Given the description of an element on the screen output the (x, y) to click on. 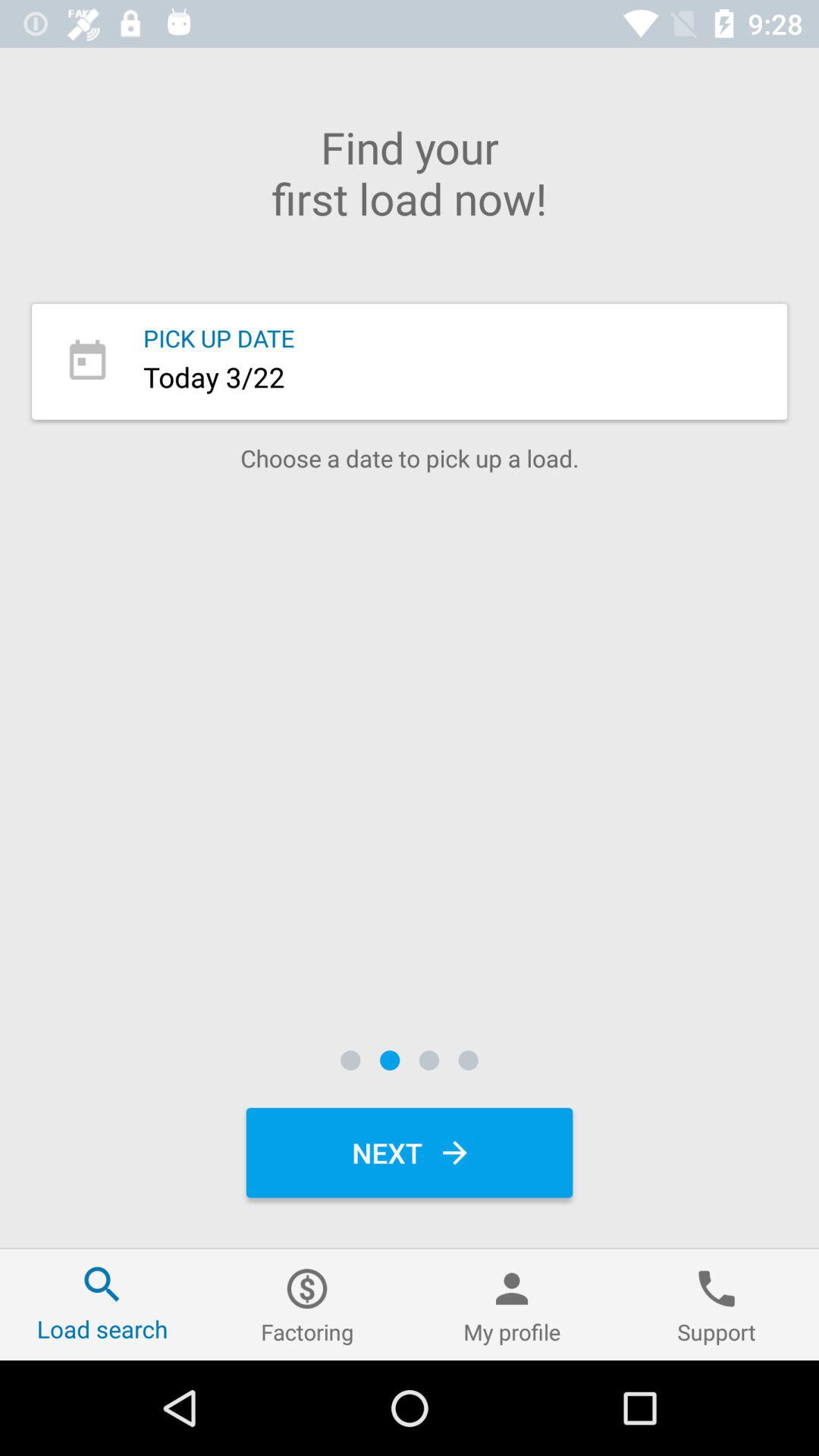
click the item next to factoring (102, 1304)
